Given the description of an element on the screen output the (x, y) to click on. 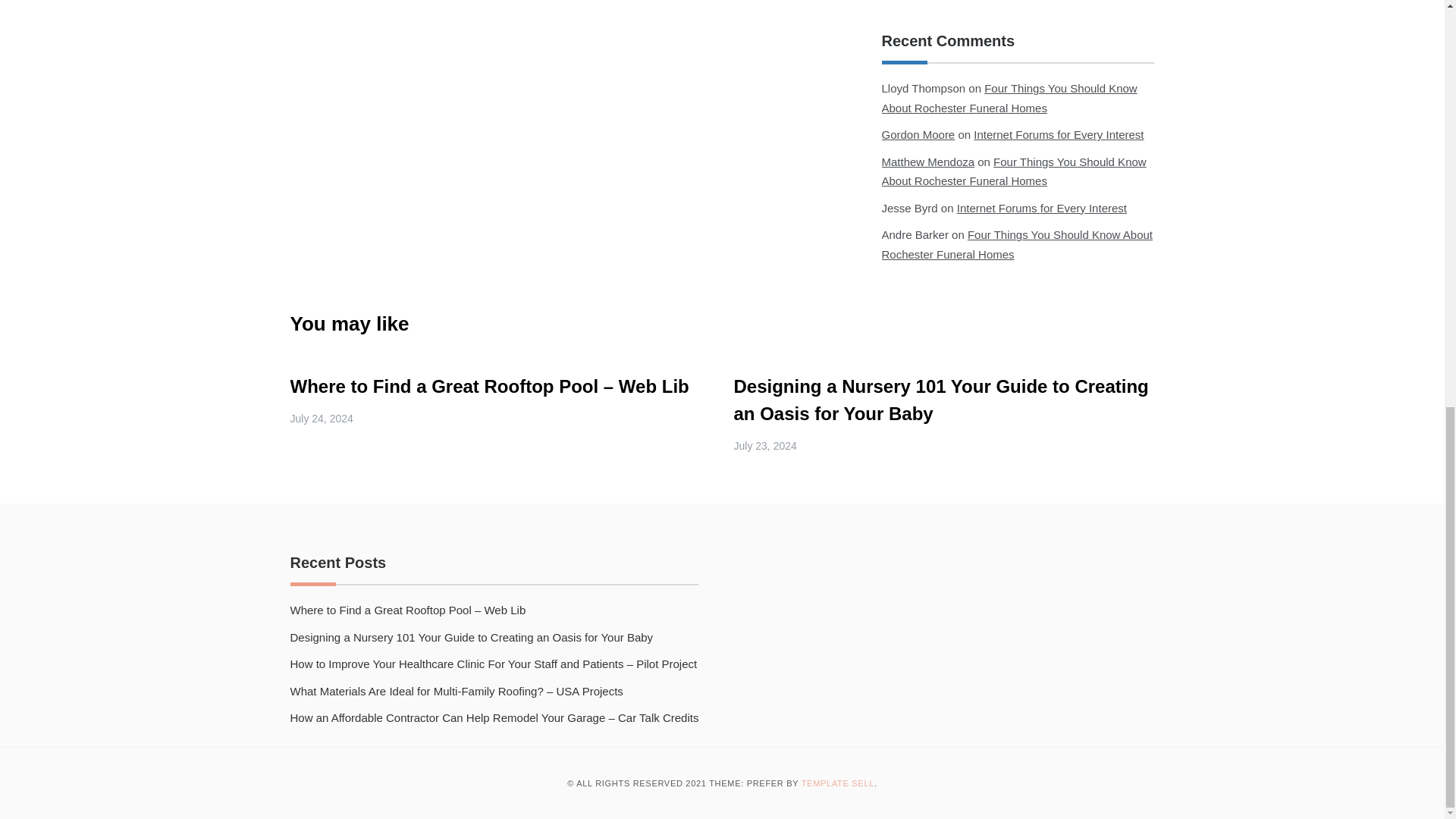
Internet Forums for Every Interest (1058, 133)
Gordon Moore (917, 133)
Four Things You Should Know About Rochester Funeral Homes (1012, 171)
Four Things You Should Know About Rochester Funeral Homes (1008, 97)
Matthew Mendoza (927, 161)
Four Things You Should Know About Rochester Funeral Homes (1015, 244)
Internet Forums for Every Interest (1041, 207)
